Given the description of an element on the screen output the (x, y) to click on. 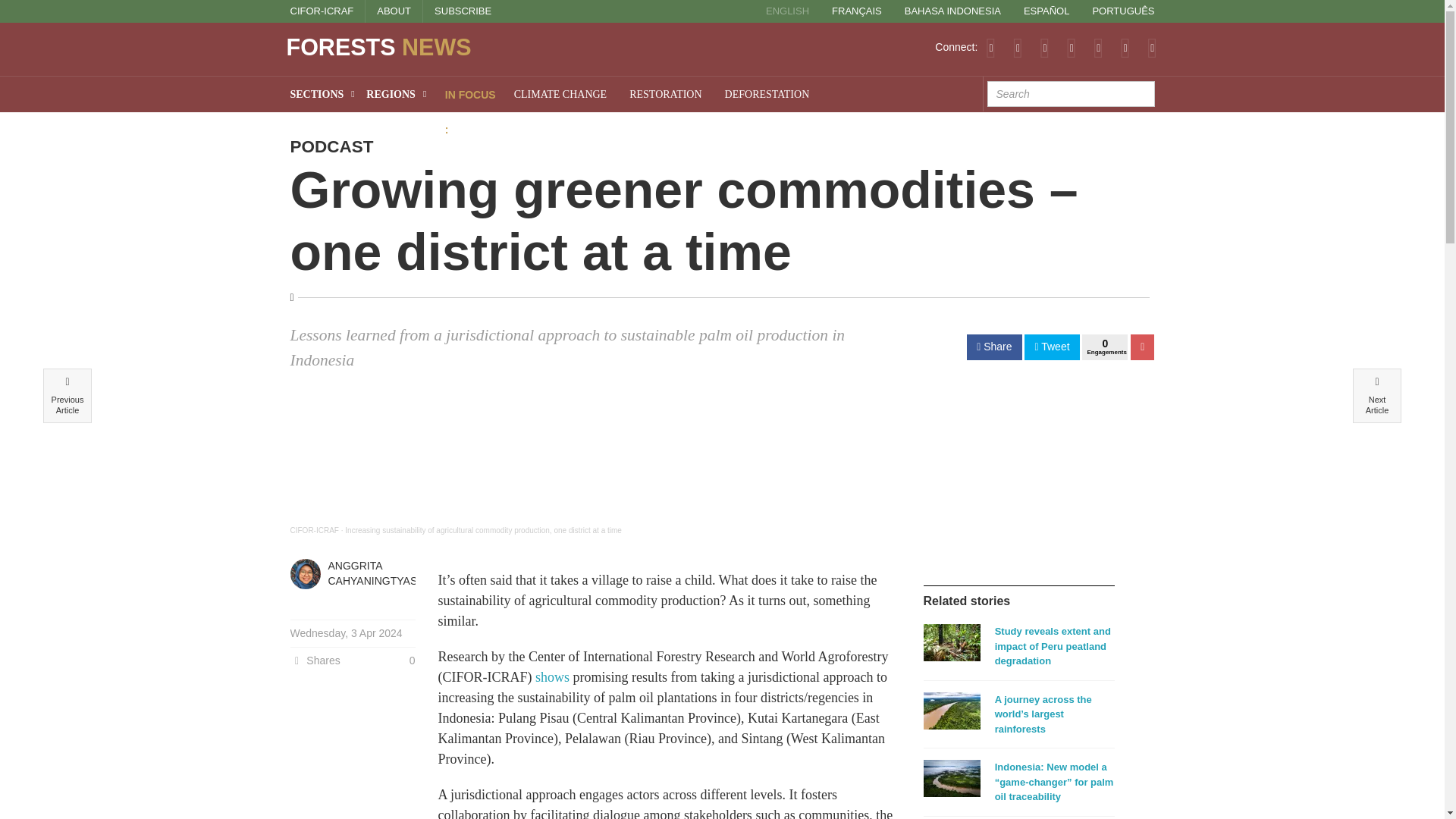
Facebook (1044, 46)
Email (1152, 46)
BAHASA INDONESIA (952, 11)
LinkedIn (1071, 46)
Instagram (1125, 46)
Share on Facebook (994, 347)
SUBSCRIBE (462, 10)
ENGLISH (787, 11)
CIFOR-ICRAF (321, 10)
Twitter (1017, 46)
ABOUT (393, 10)
Feed (990, 46)
Youtube (1098, 46)
